Given the description of an element on the screen output the (x, y) to click on. 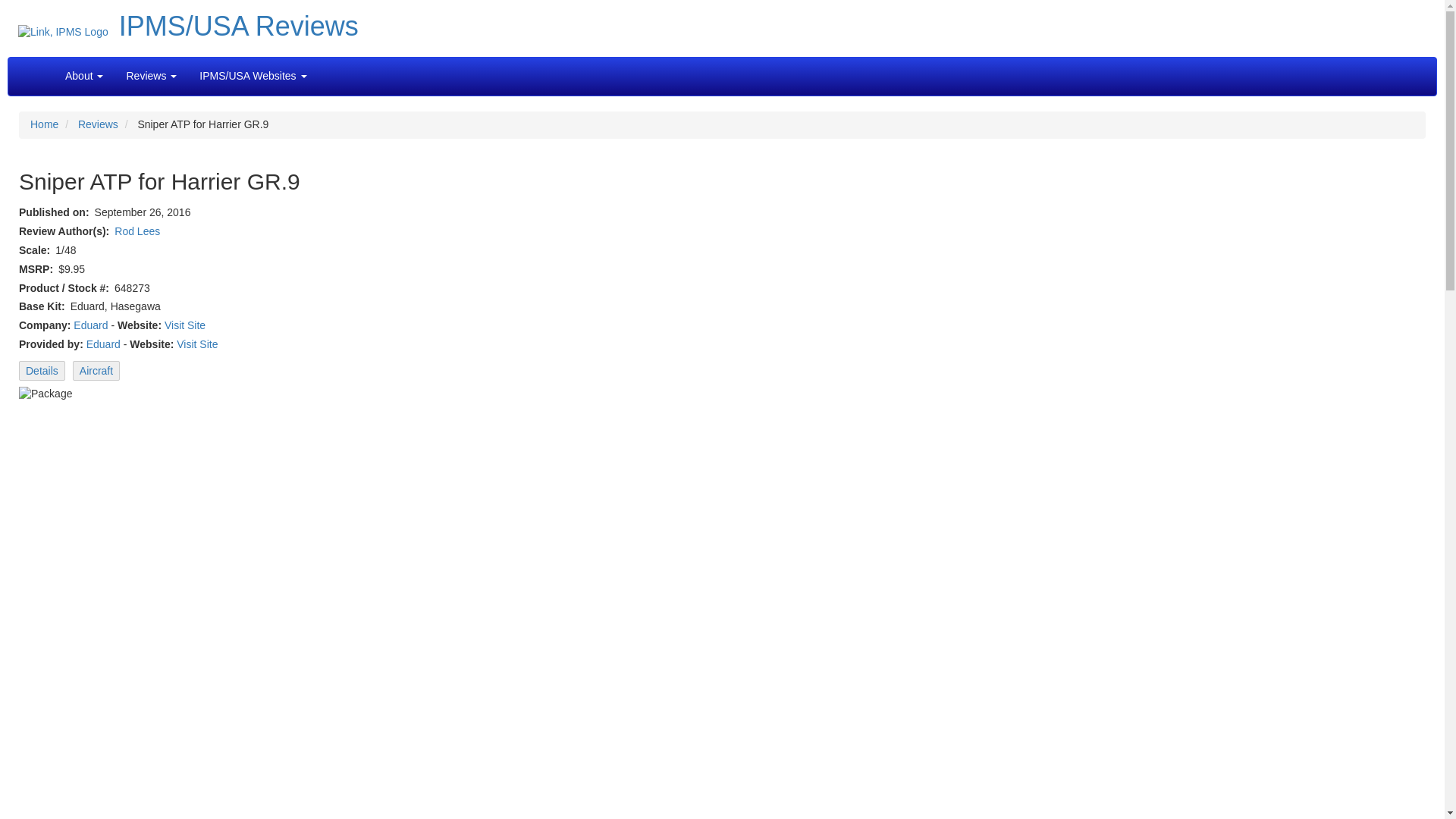
About (84, 76)
Rod Lees (137, 231)
Visit Site (196, 344)
Eduard (90, 325)
Home (44, 123)
Search (329, 68)
Reviews (150, 76)
Visit Site (184, 325)
